Given the description of an element on the screen output the (x, y) to click on. 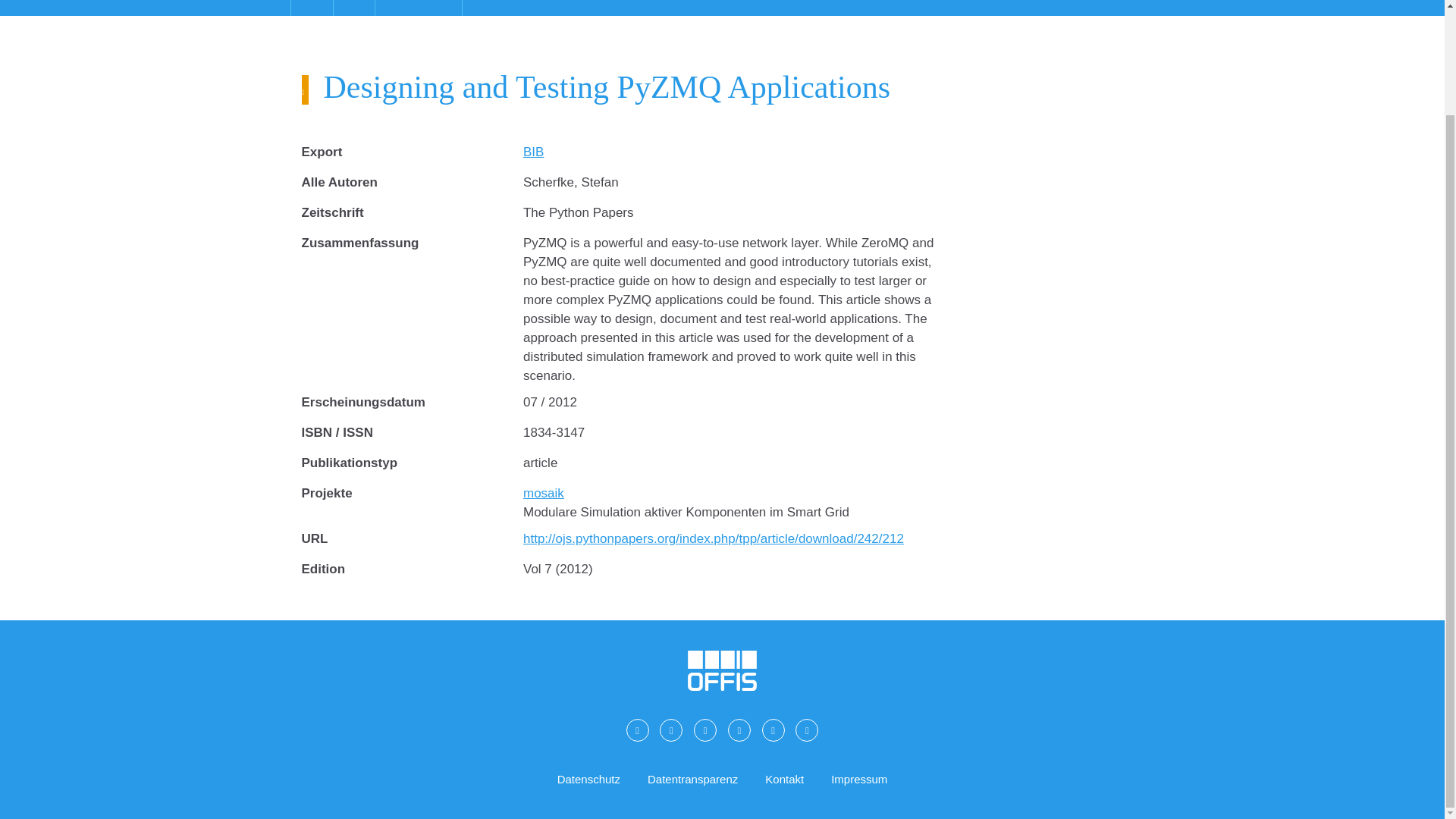
twitter (670, 730)
Datentransparenz (692, 778)
Datenschutz (588, 778)
xing (705, 730)
Kontakt (784, 778)
Impressum (858, 778)
instagram (772, 730)
Bibtextexport (532, 151)
linkedin (739, 730)
youtube (806, 730)
